Given the description of an element on the screen output the (x, y) to click on. 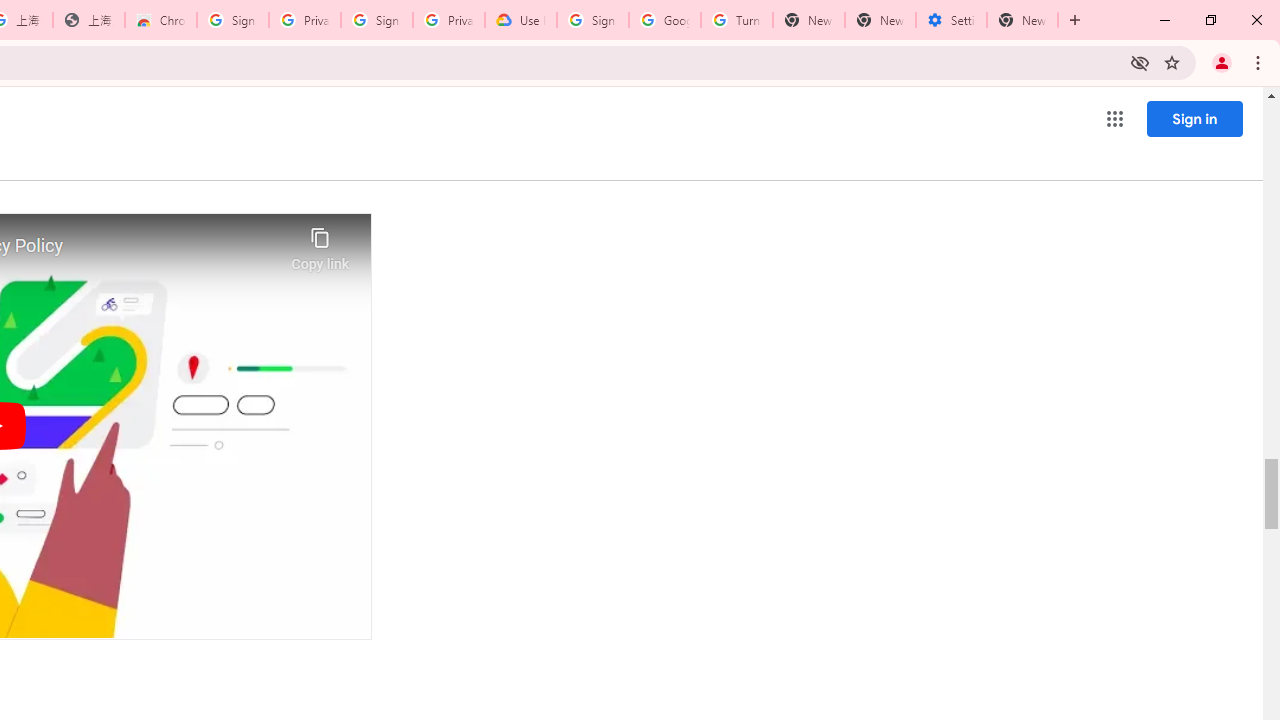
Sign in - Google Accounts (592, 20)
